Given the description of an element on the screen output the (x, y) to click on. 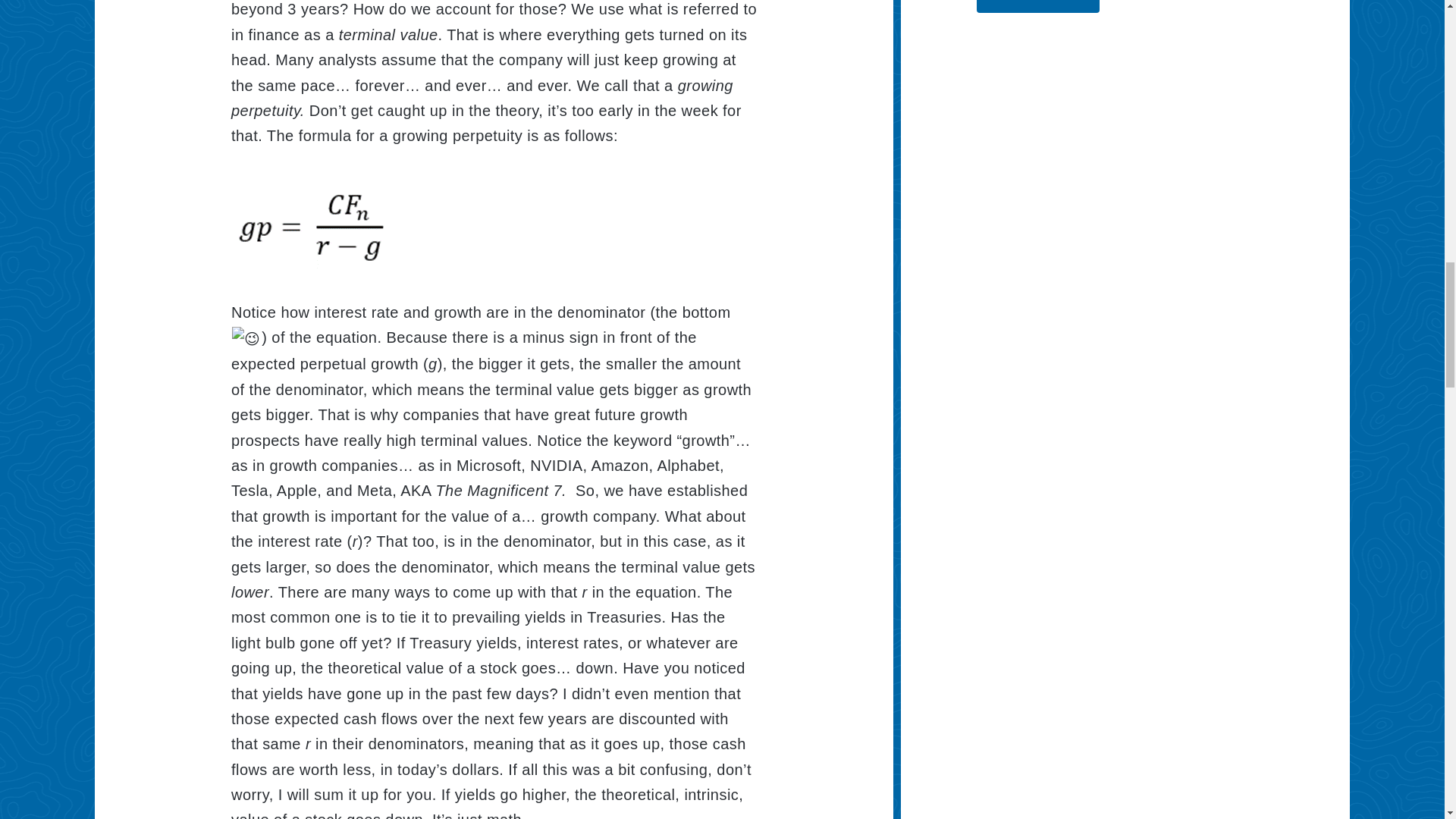
LEARN MORE (1037, 6)
